Given the description of an element on the screen output the (x, y) to click on. 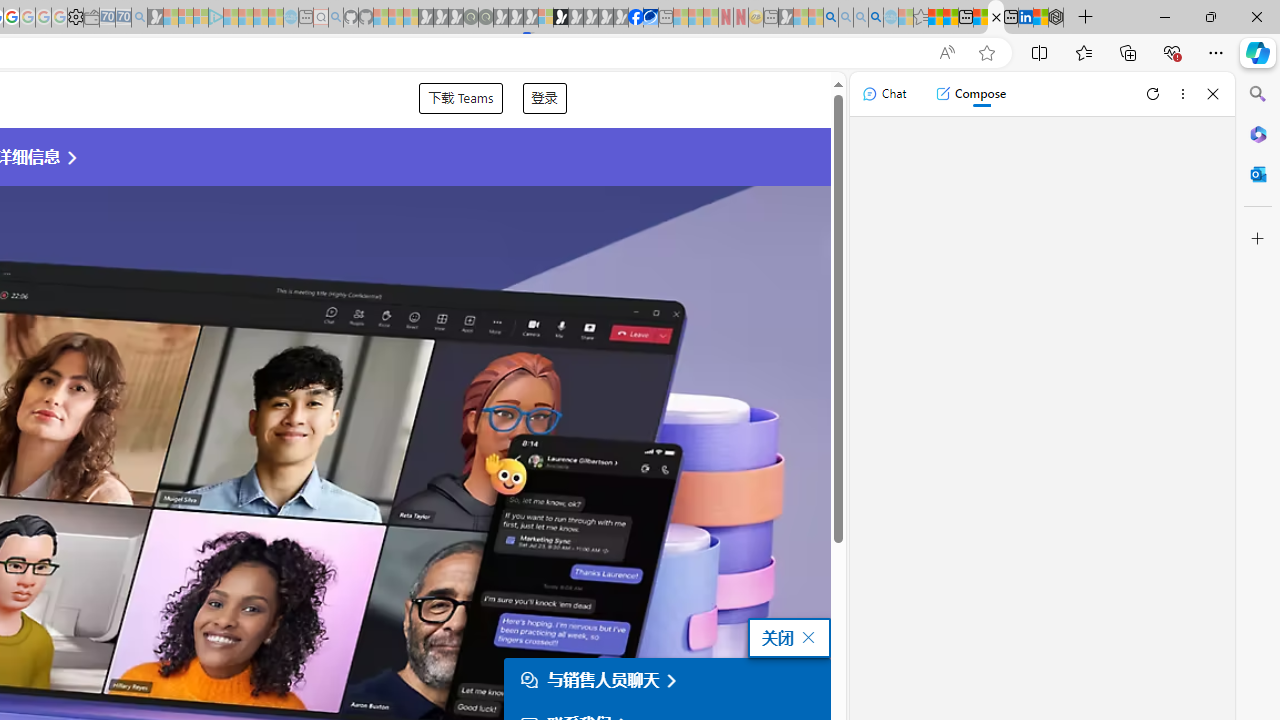
Bing AI - Search (831, 17)
